Given the description of an element on the screen output the (x, y) to click on. 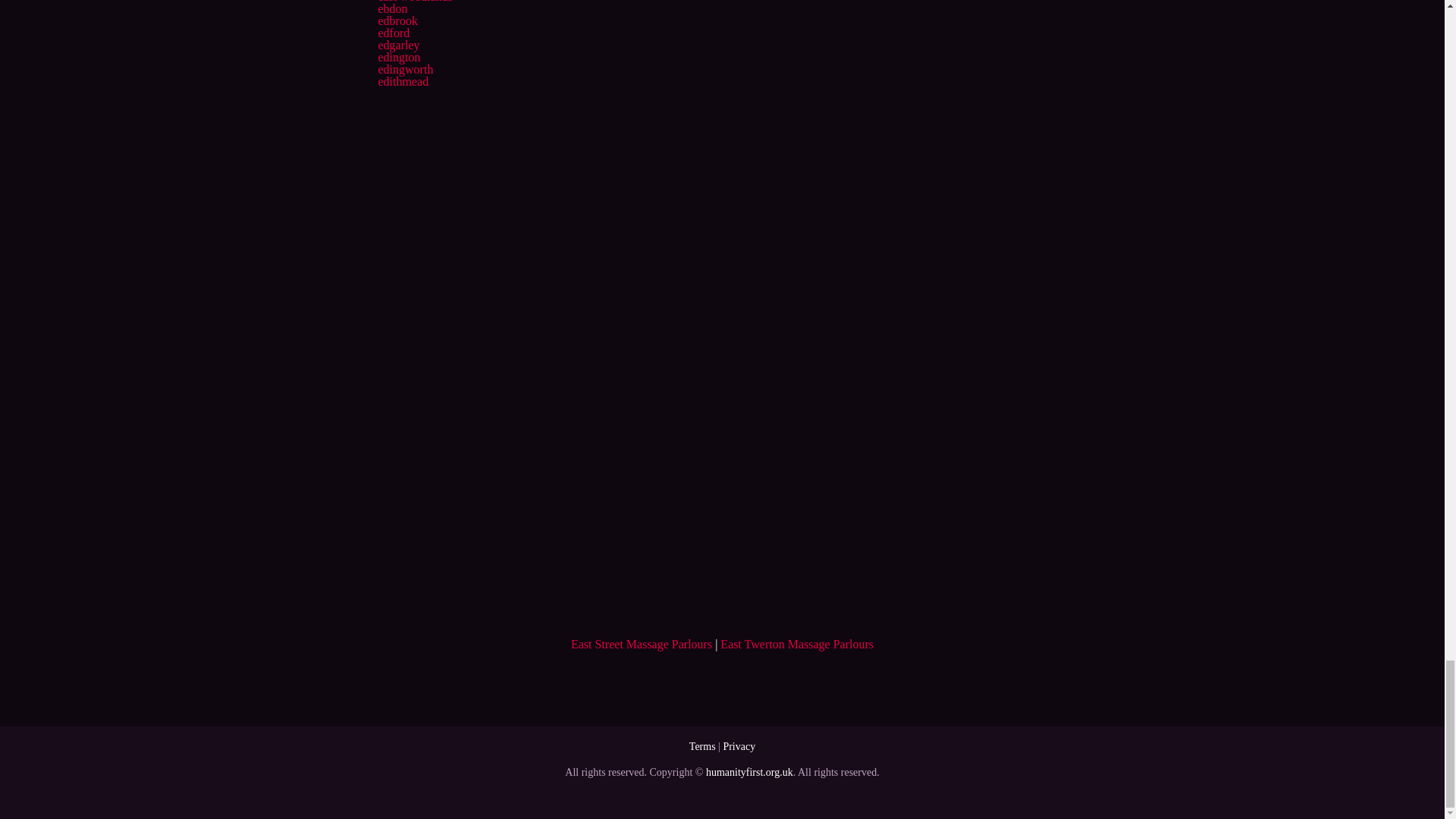
Terms (702, 746)
East Twerton Massage Parlours (796, 644)
edington (398, 56)
edingworth (404, 69)
East Street Massage Parlours (640, 644)
Terms (702, 746)
edithmead (402, 81)
east woodlands (414, 1)
ebdon (392, 8)
edbrook (396, 20)
edford (393, 32)
edgarley (398, 44)
humanityfirst.org.uk (749, 772)
Privacy (738, 746)
Privacy (738, 746)
